Given the description of an element on the screen output the (x, y) to click on. 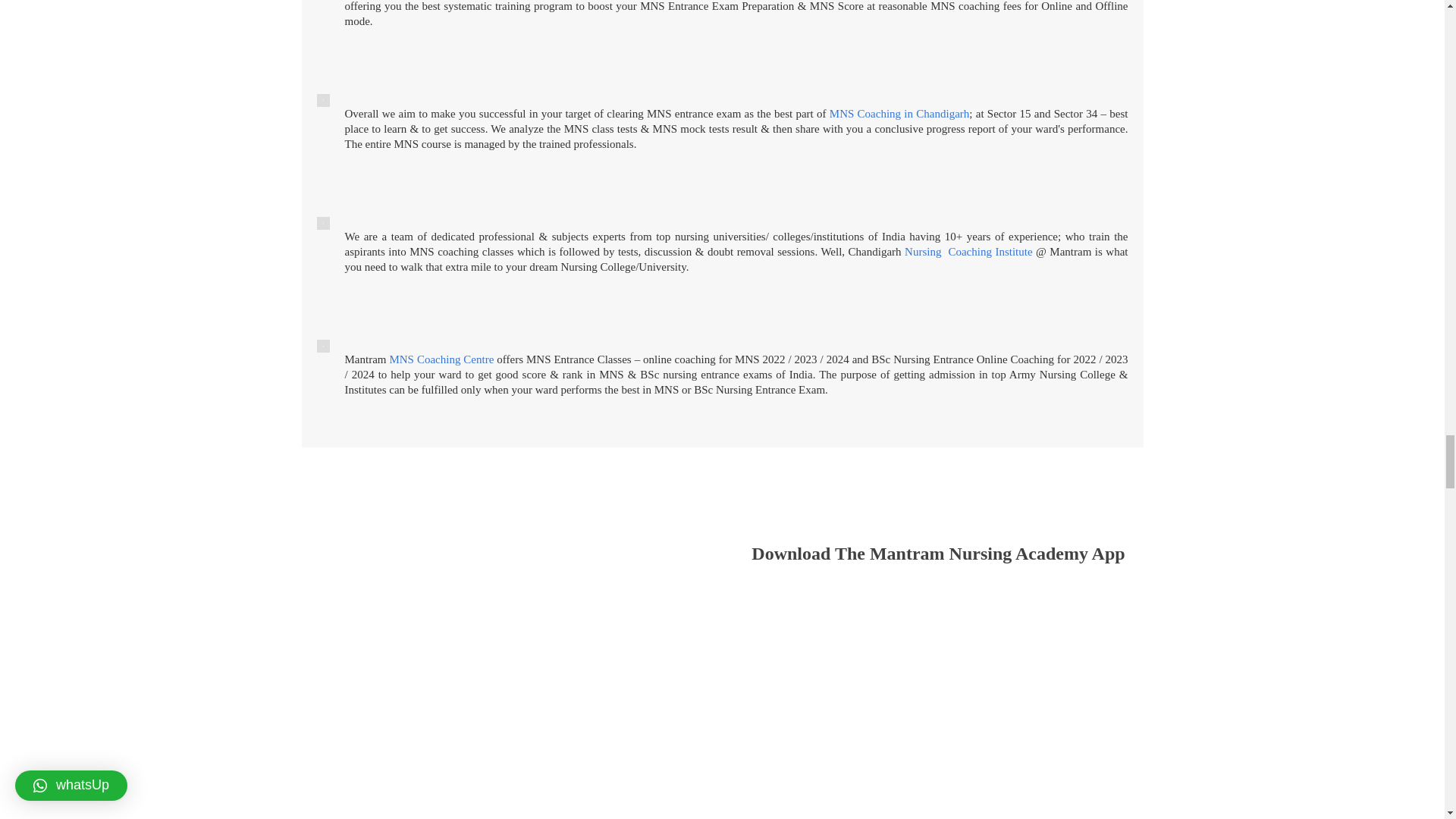
MNS Coaching Centre (440, 358)
Nursing  Coaching Institute (968, 251)
MNS Coaching in Chandigarh (899, 113)
